Given the description of an element on the screen output the (x, y) to click on. 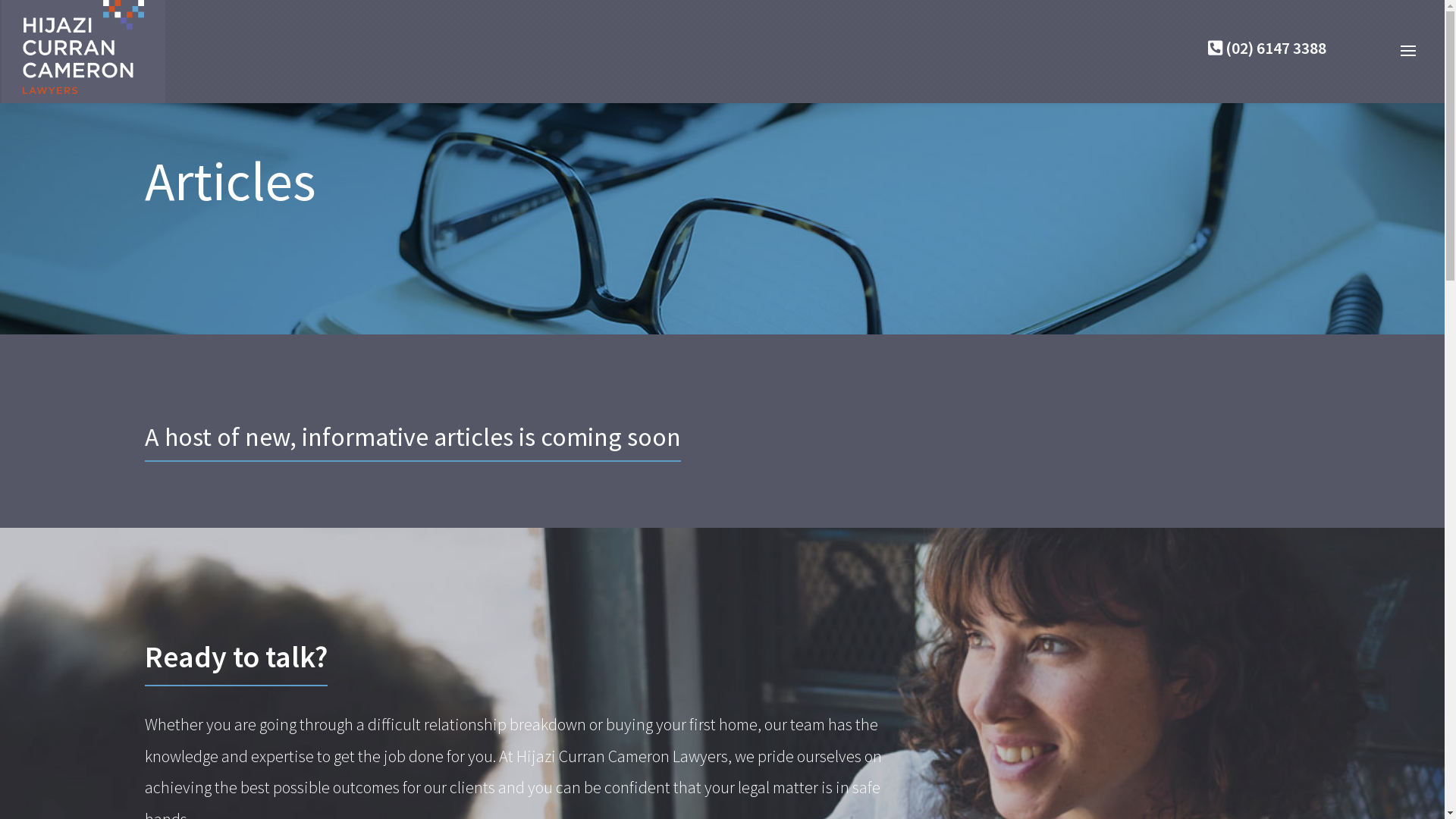
(02) 6147 3388 Element type: text (1267, 47)
